Given the description of an element on the screen output the (x, y) to click on. 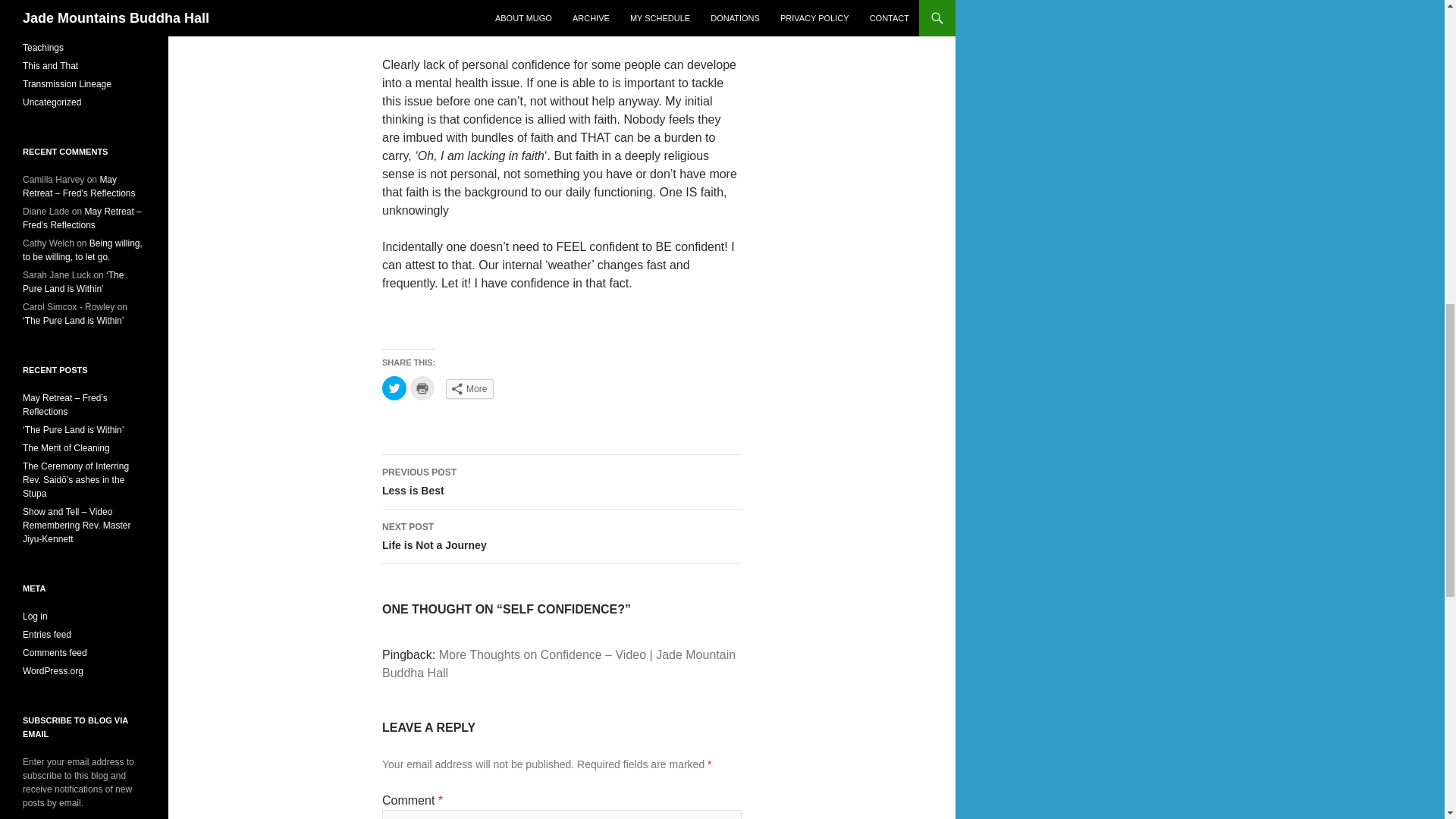
Click to print (421, 387)
More (469, 388)
Photographs taken by Rev. Mugo. (561, 482)
Click to share on Twitter (561, 536)
